Given the description of an element on the screen output the (x, y) to click on. 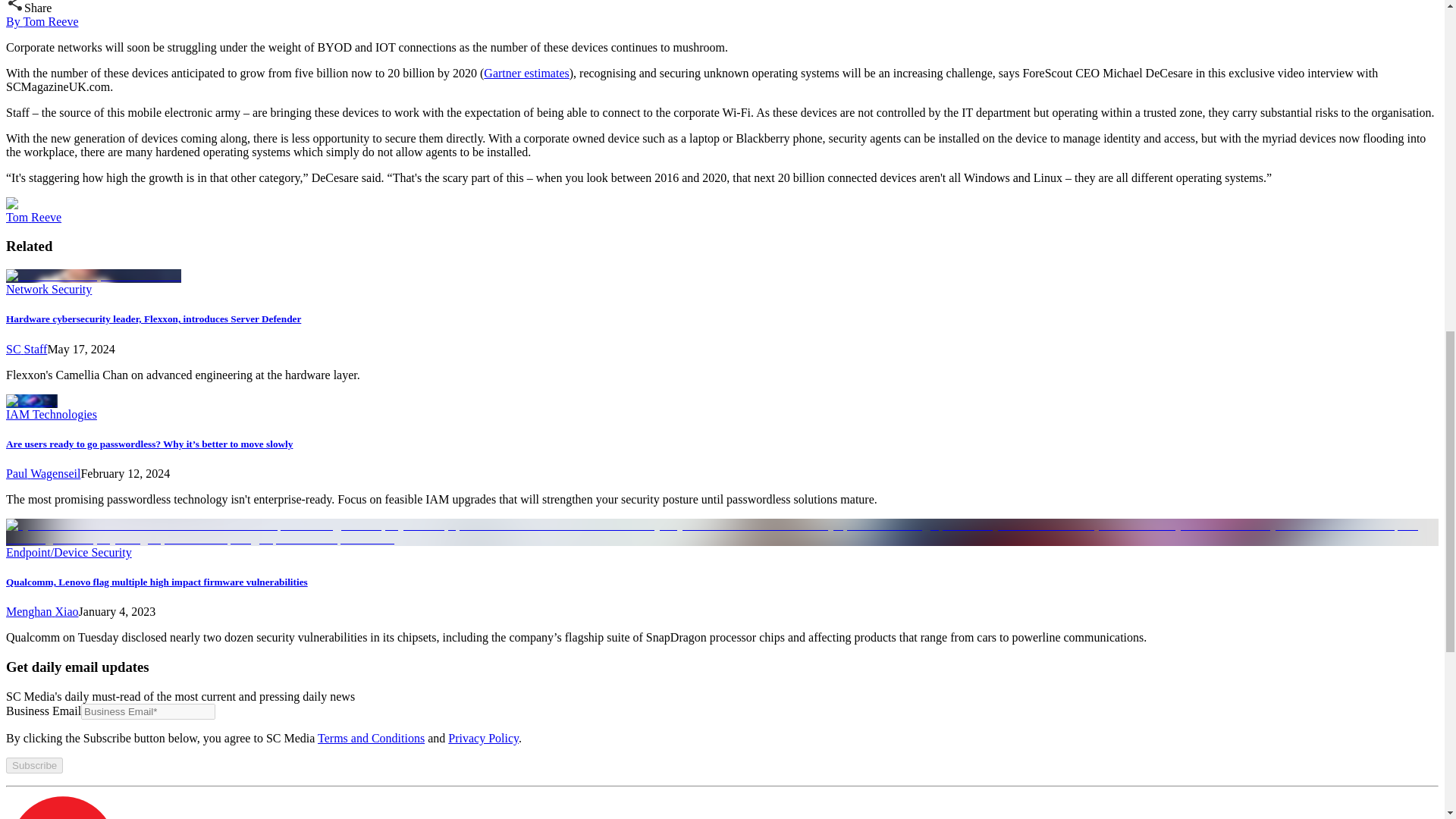
Paul Wagenseil (42, 472)
Network Security (48, 288)
By Tom Reeve (41, 21)
Tom Reeve (33, 216)
Menghan Xiao (41, 611)
Terms and Conditions (371, 738)
Gartner estimates (526, 72)
SC Staff (25, 349)
IAM Technologies (51, 413)
Privacy Policy (483, 738)
Subscribe (33, 765)
